Given the description of an element on the screen output the (x, y) to click on. 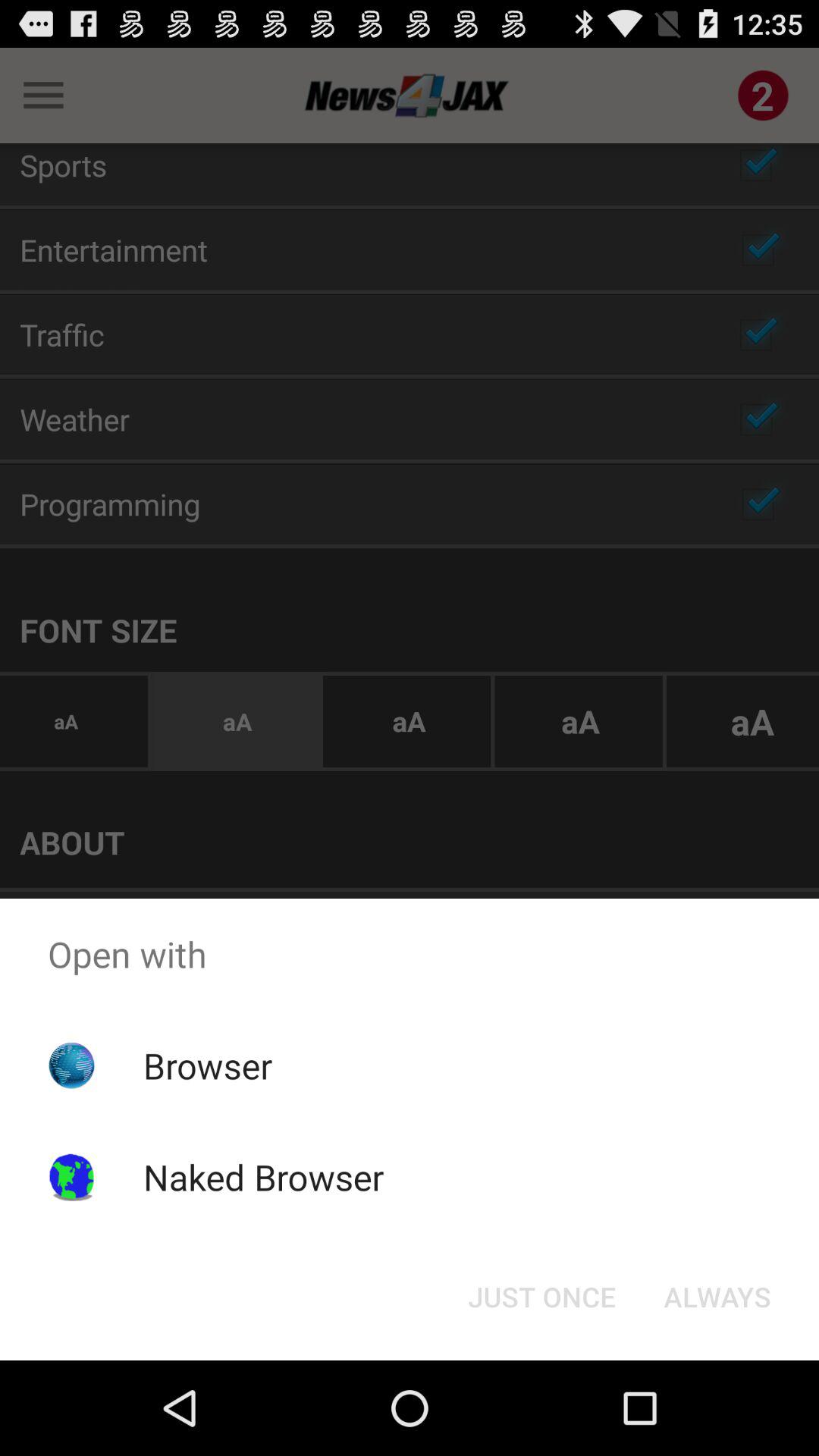
swipe to the always button (717, 1296)
